Given the description of an element on the screen output the (x, y) to click on. 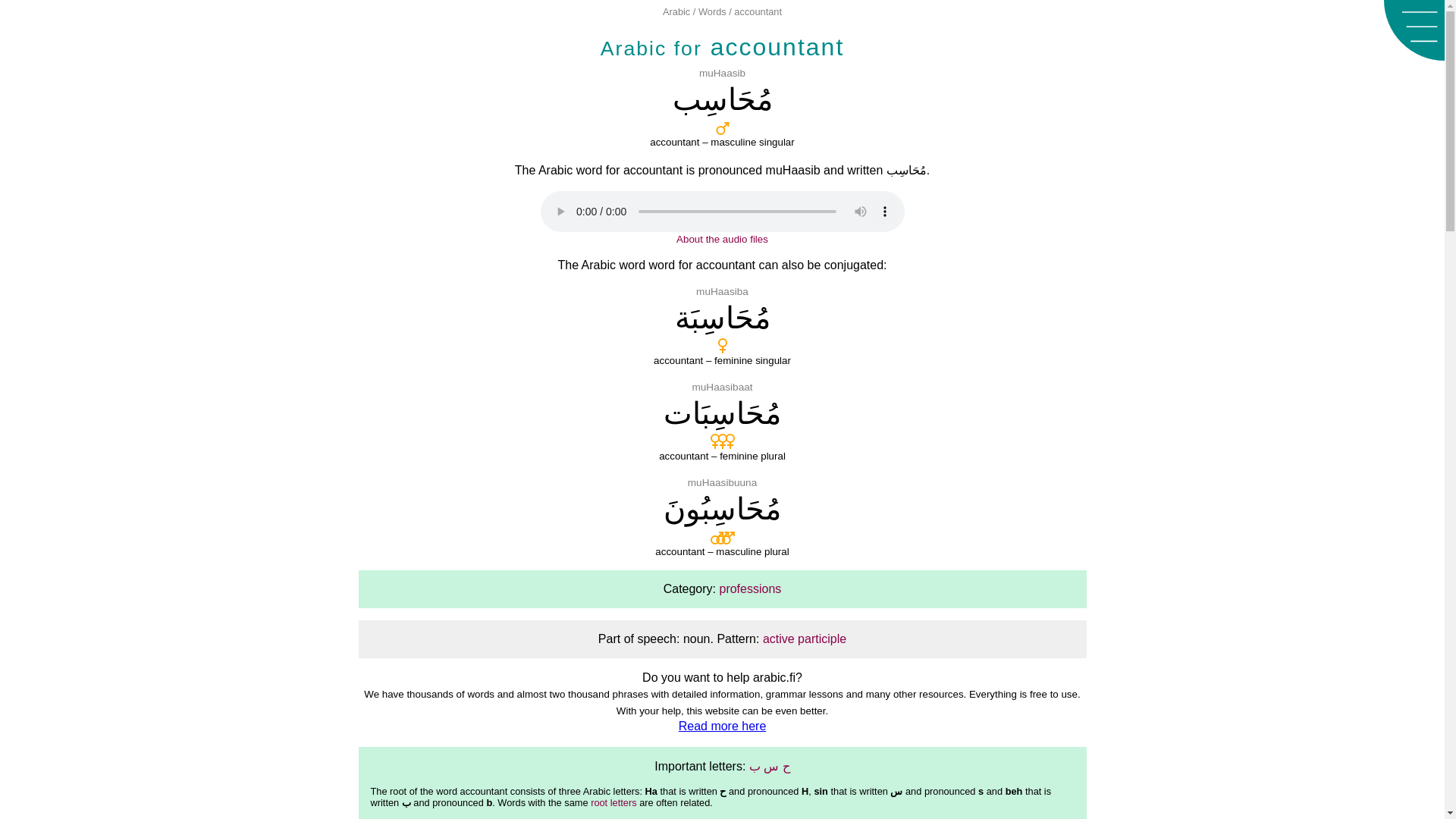
Words (712, 11)
About the audio files (722, 238)
root letters (613, 802)
professions (749, 588)
Arabic (676, 11)
Read more here (722, 725)
active participle (803, 638)
